Given the description of an element on the screen output the (x, y) to click on. 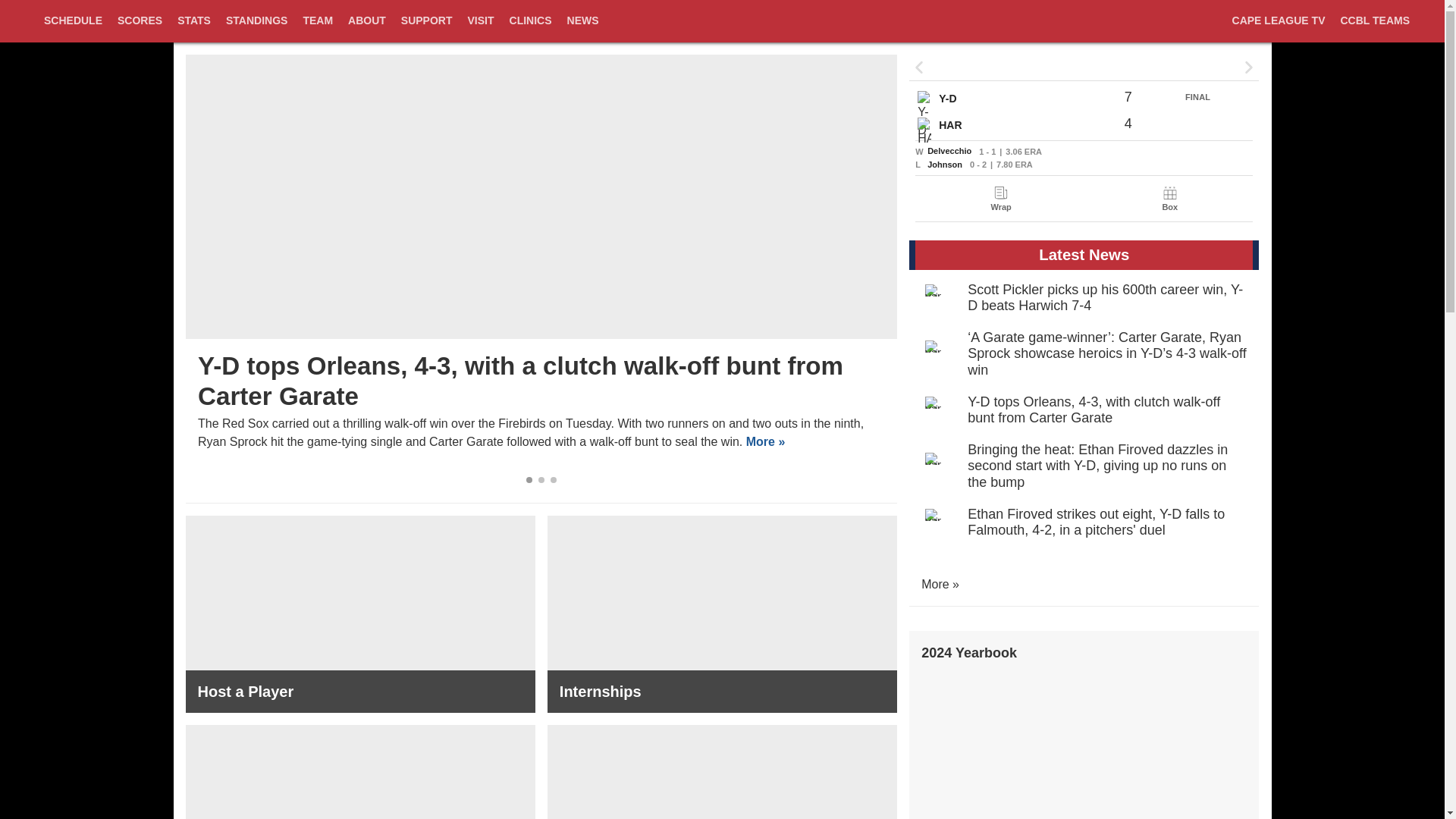
icon-box-15896 (1169, 192)
CAPE LEAGUE TV (1278, 28)
STANDINGS (256, 28)
CCBL TEAMS (1374, 28)
SUPPORT (426, 28)
icon-wrap-15895 (1000, 192)
ABOUT (366, 28)
CLINICS (530, 28)
STATS (194, 21)
SCHEDULE (73, 21)
SCORES (140, 21)
